Given the description of an element on the screen output the (x, y) to click on. 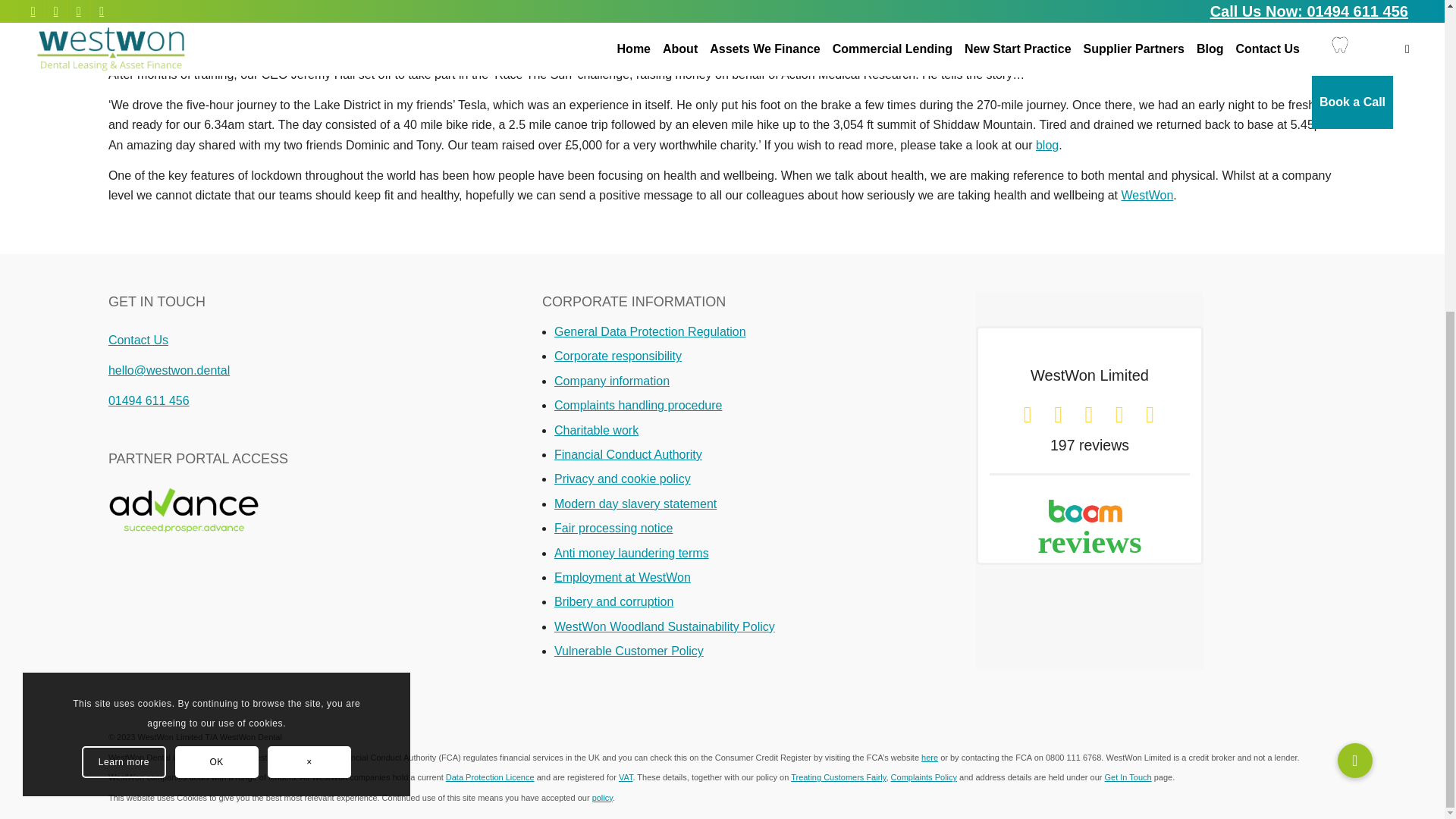
Anti money laundering terms (631, 553)
blog (1046, 144)
Privacy and cookie policy (622, 478)
01494 611 456 (148, 400)
Financial Conduct Authority (627, 454)
Contact Us (137, 339)
Charitable work (596, 430)
Corporate responsibility (617, 355)
Complaints handling procedure (638, 404)
General Data Protection Regulation (649, 331)
Fair processing notice (613, 527)
Modern day slavery statement (635, 503)
Company information (611, 380)
WestWon (1147, 195)
